Given the description of an element on the screen output the (x, y) to click on. 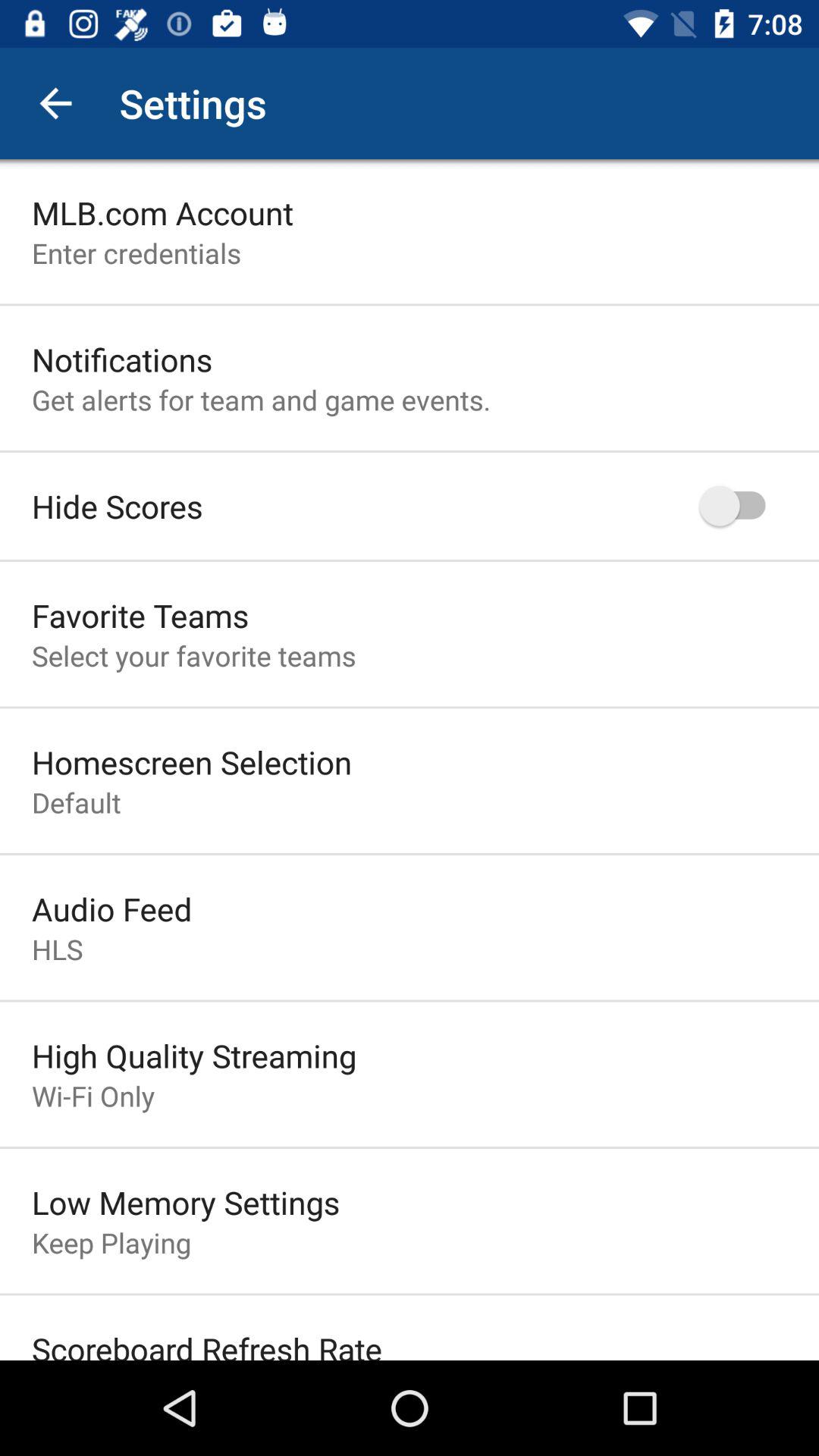
press the app to the left of settings icon (55, 103)
